Given the description of an element on the screen output the (x, y) to click on. 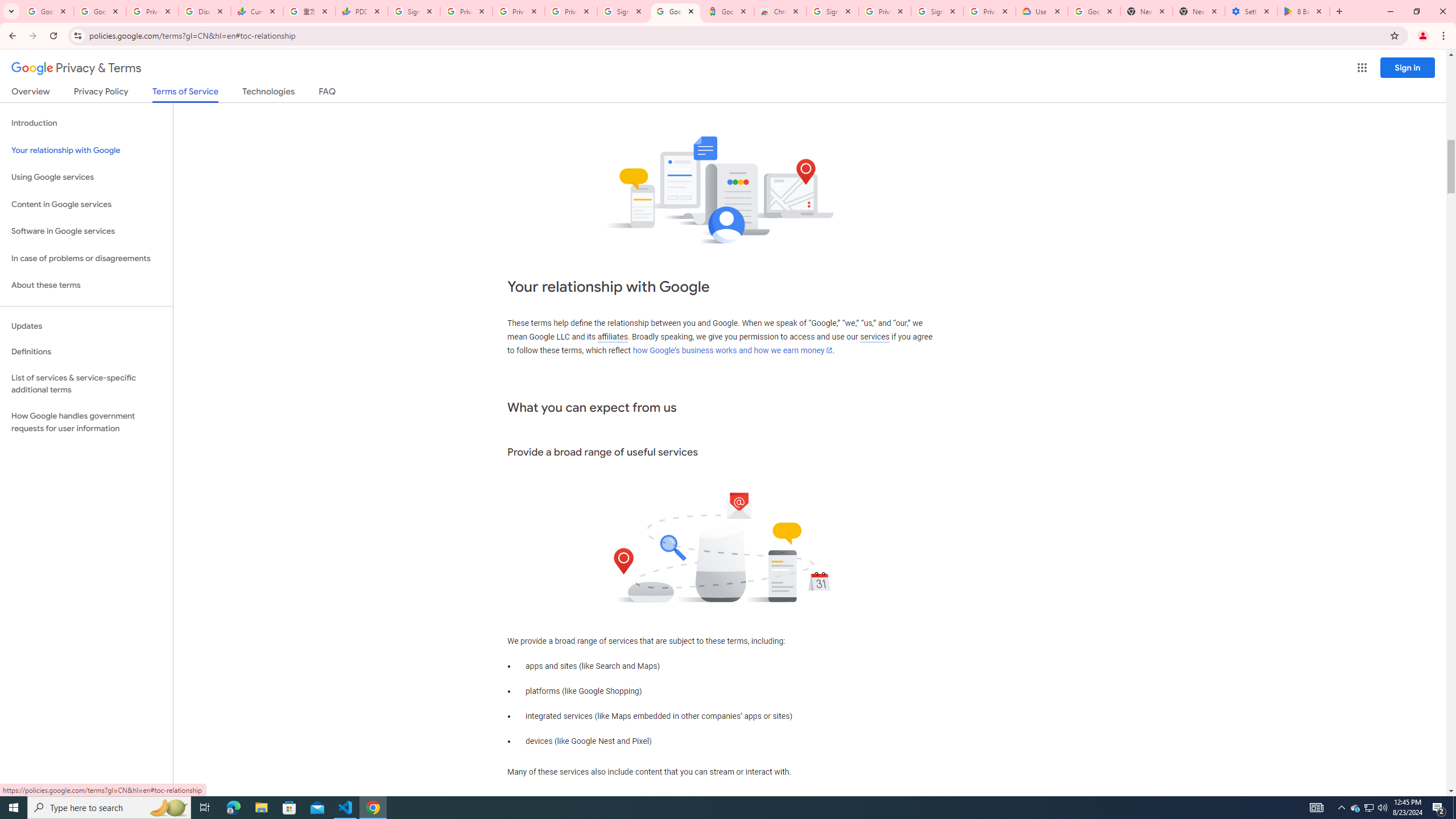
Definitions (86, 352)
Settings - System (1251, 11)
affiliates (611, 336)
How Google handles government requests for user information (86, 422)
Content in Google services (86, 204)
